Given the description of an element on the screen output the (x, y) to click on. 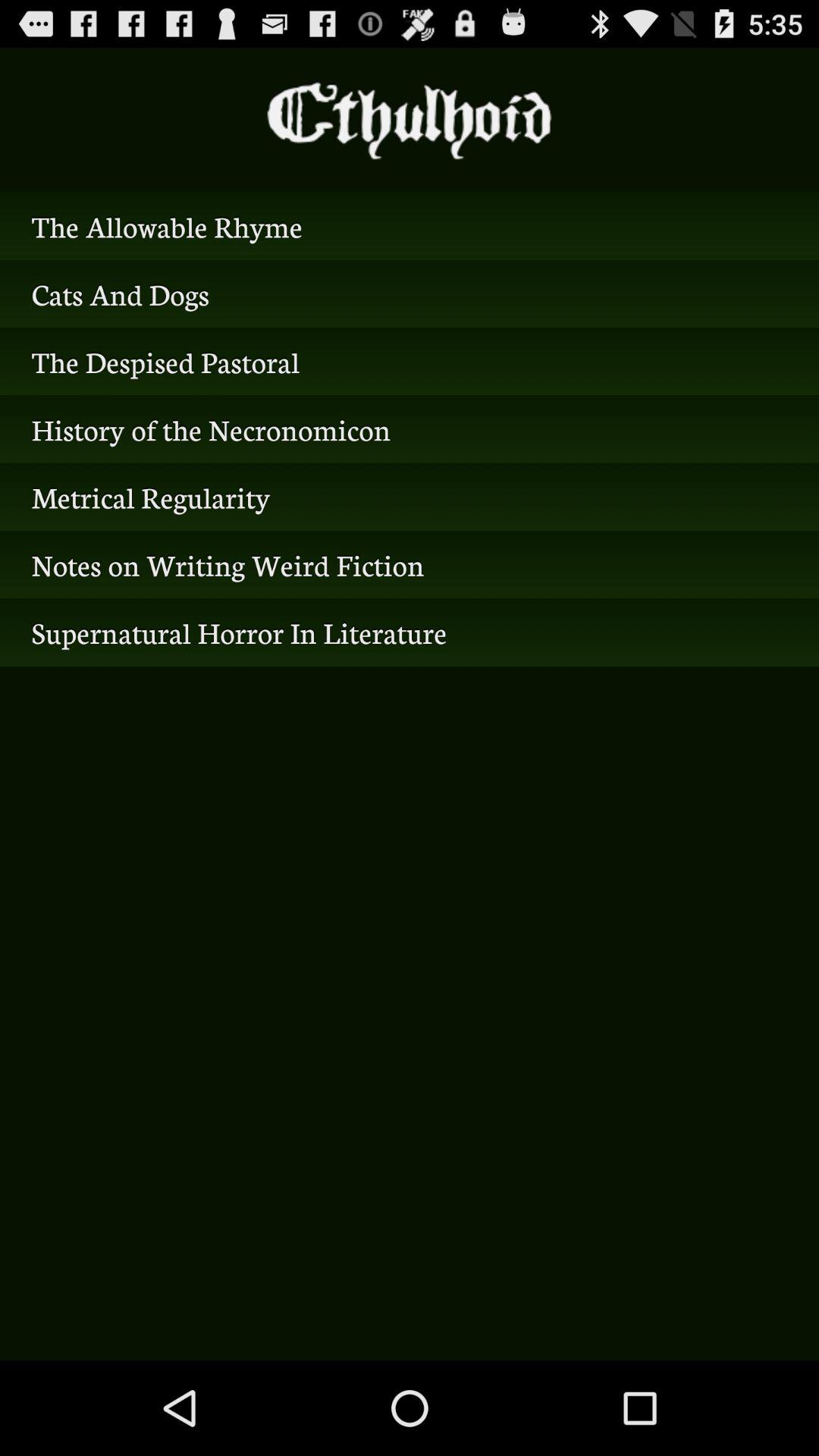
click notes on writing (409, 564)
